Given the description of an element on the screen output the (x, y) to click on. 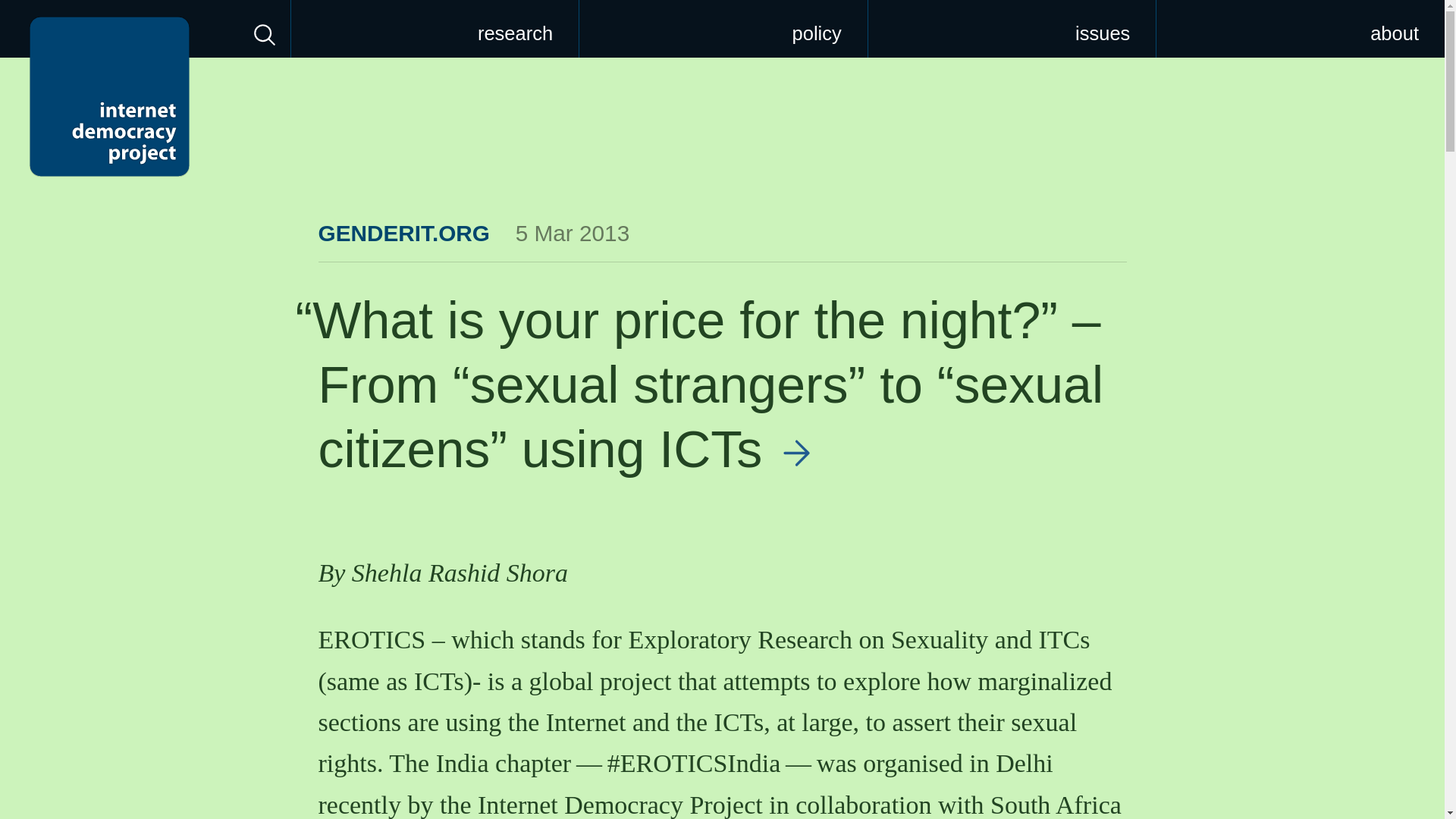
policy (723, 28)
Internet Democracy Project (109, 96)
research (435, 28)
issues (1011, 28)
GENDERIT.ORG 5 Mar 2013 (474, 232)
